Given the description of an element on the screen output the (x, y) to click on. 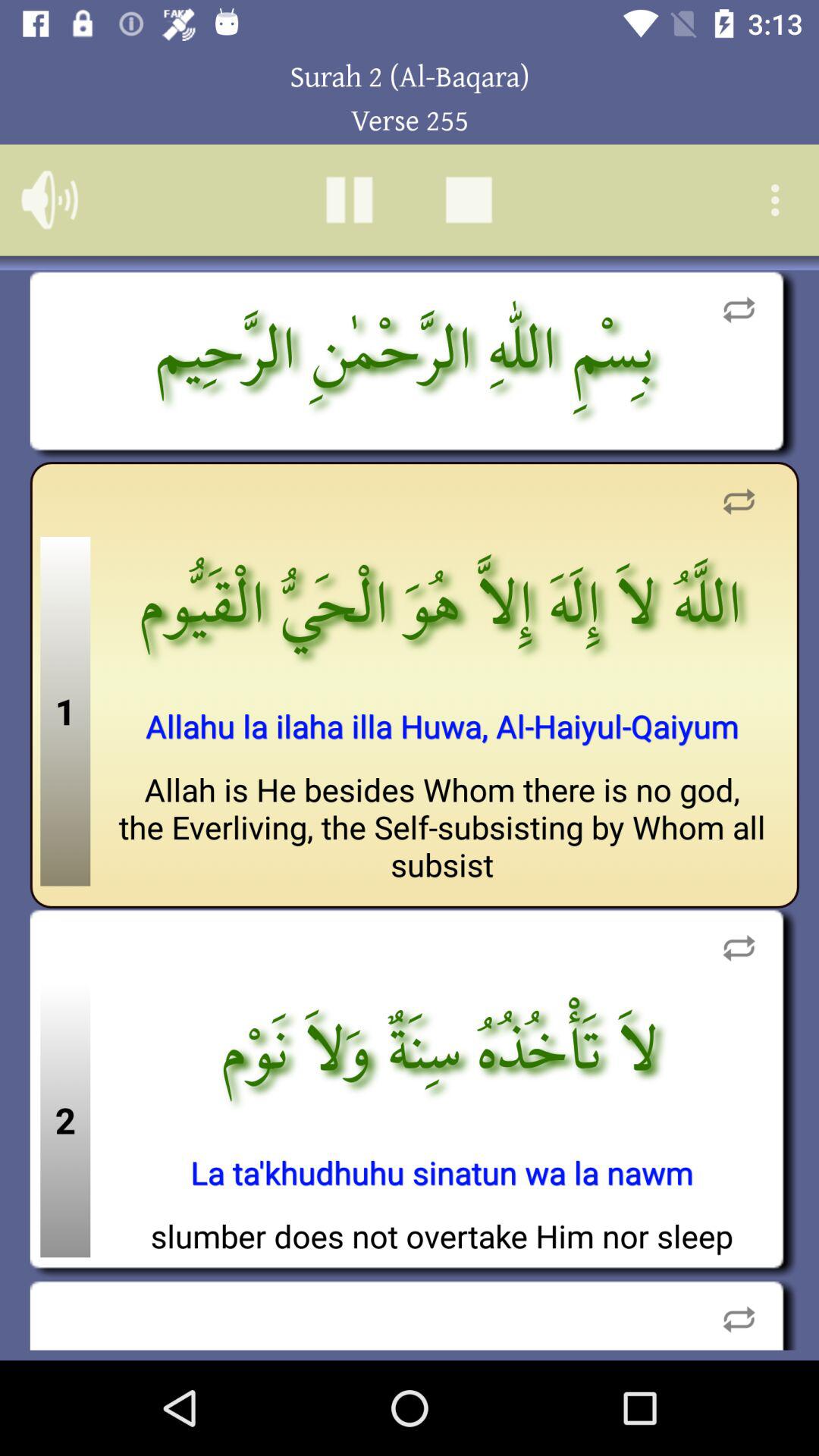
sound (49, 199)
